Given the description of an element on the screen output the (x, y) to click on. 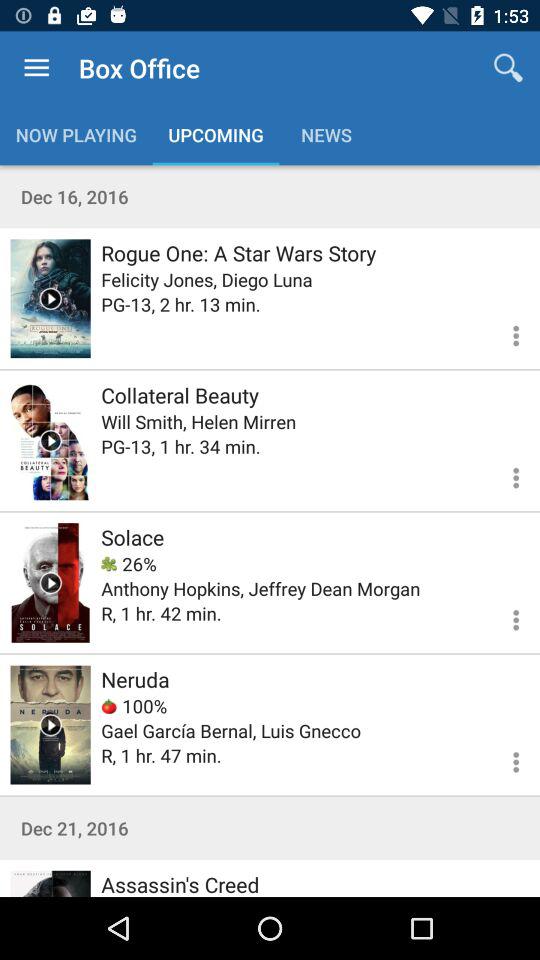
open options (503, 617)
